Given the description of an element on the screen output the (x, y) to click on. 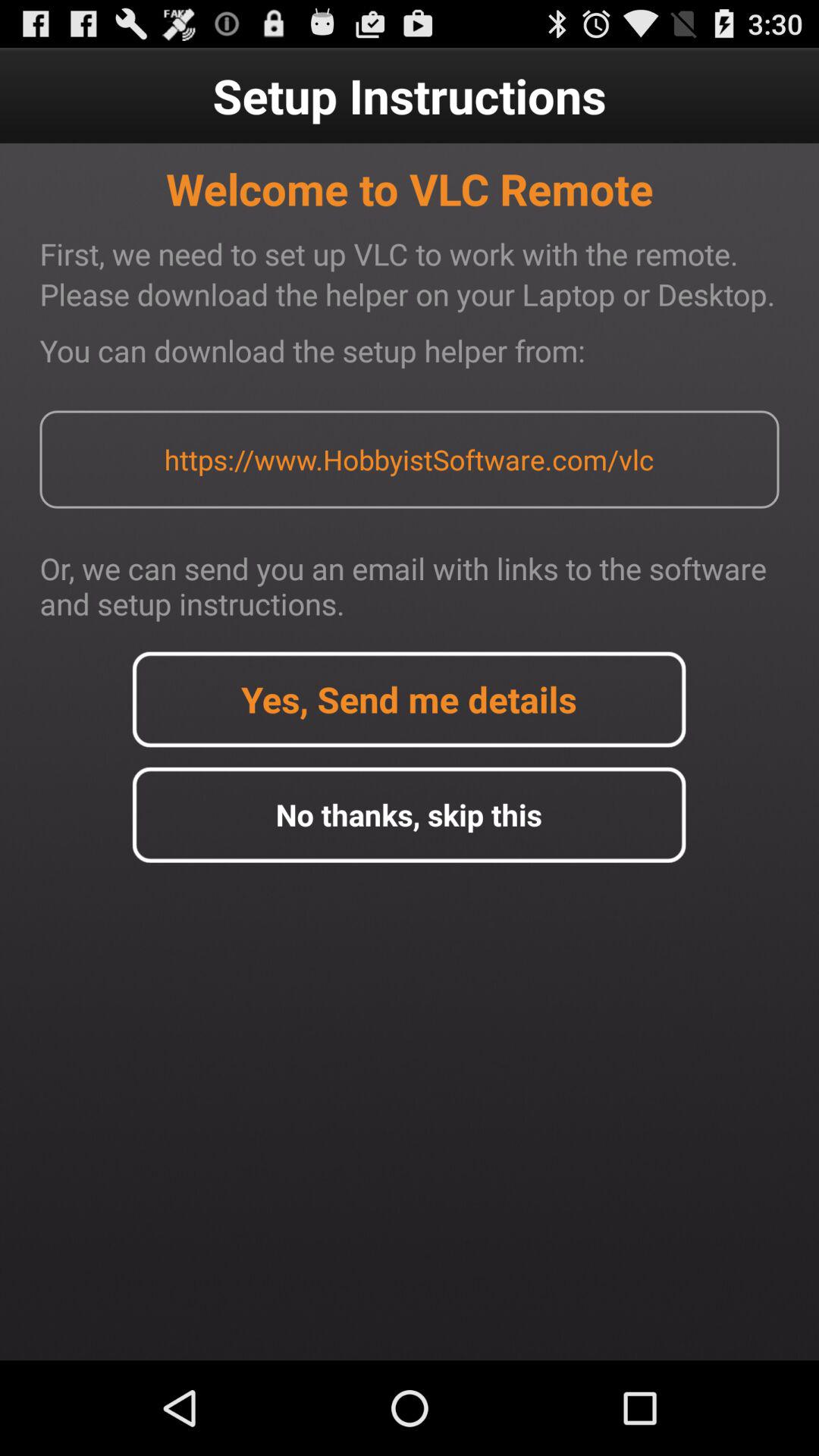
turn on the https www hobbyistsoftware app (409, 459)
